Given the description of an element on the screen output the (x, y) to click on. 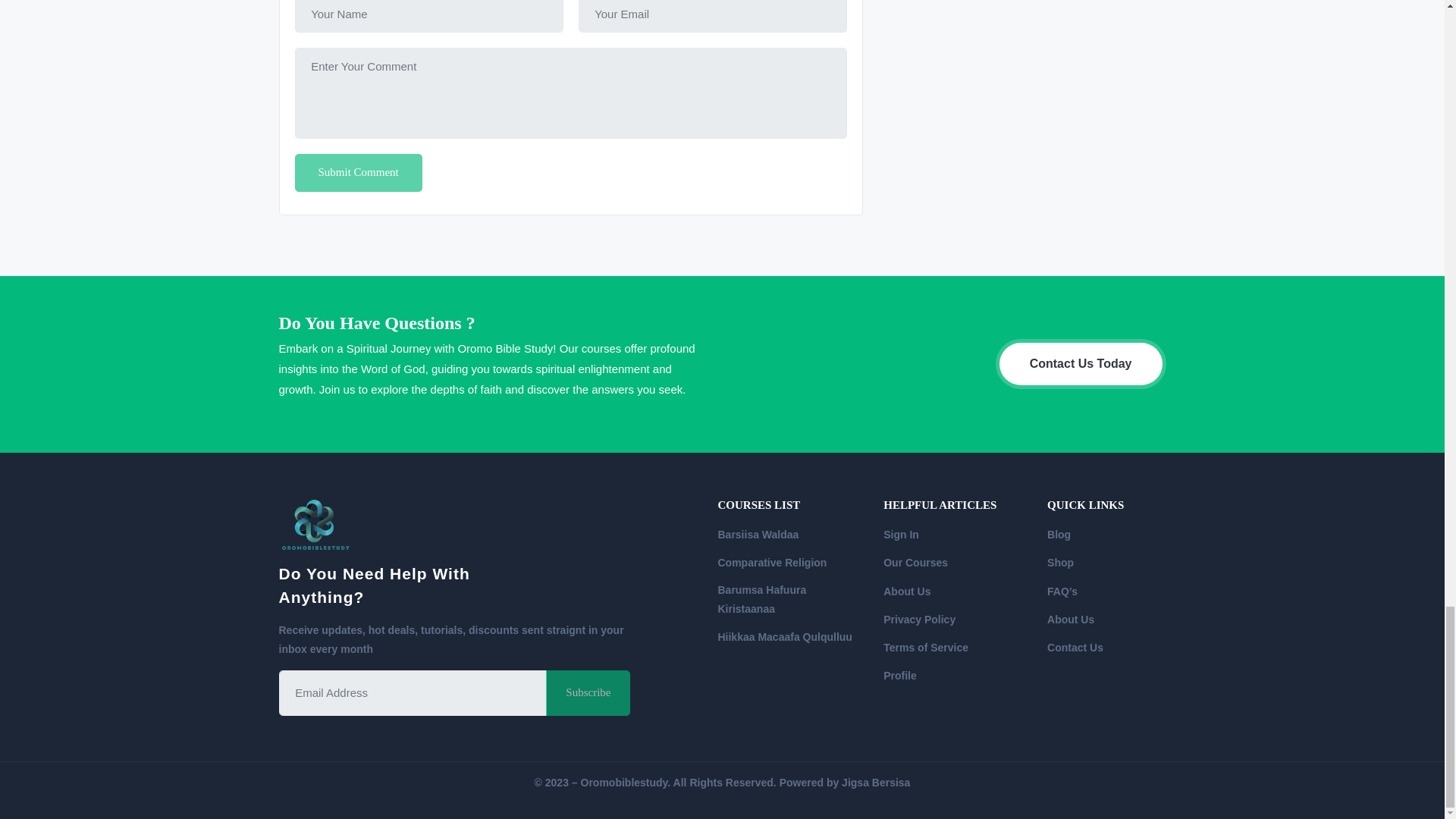
Submit Comment (358, 172)
Subscribe (588, 692)
Submit Comment (358, 172)
